Given the description of an element on the screen output the (x, y) to click on. 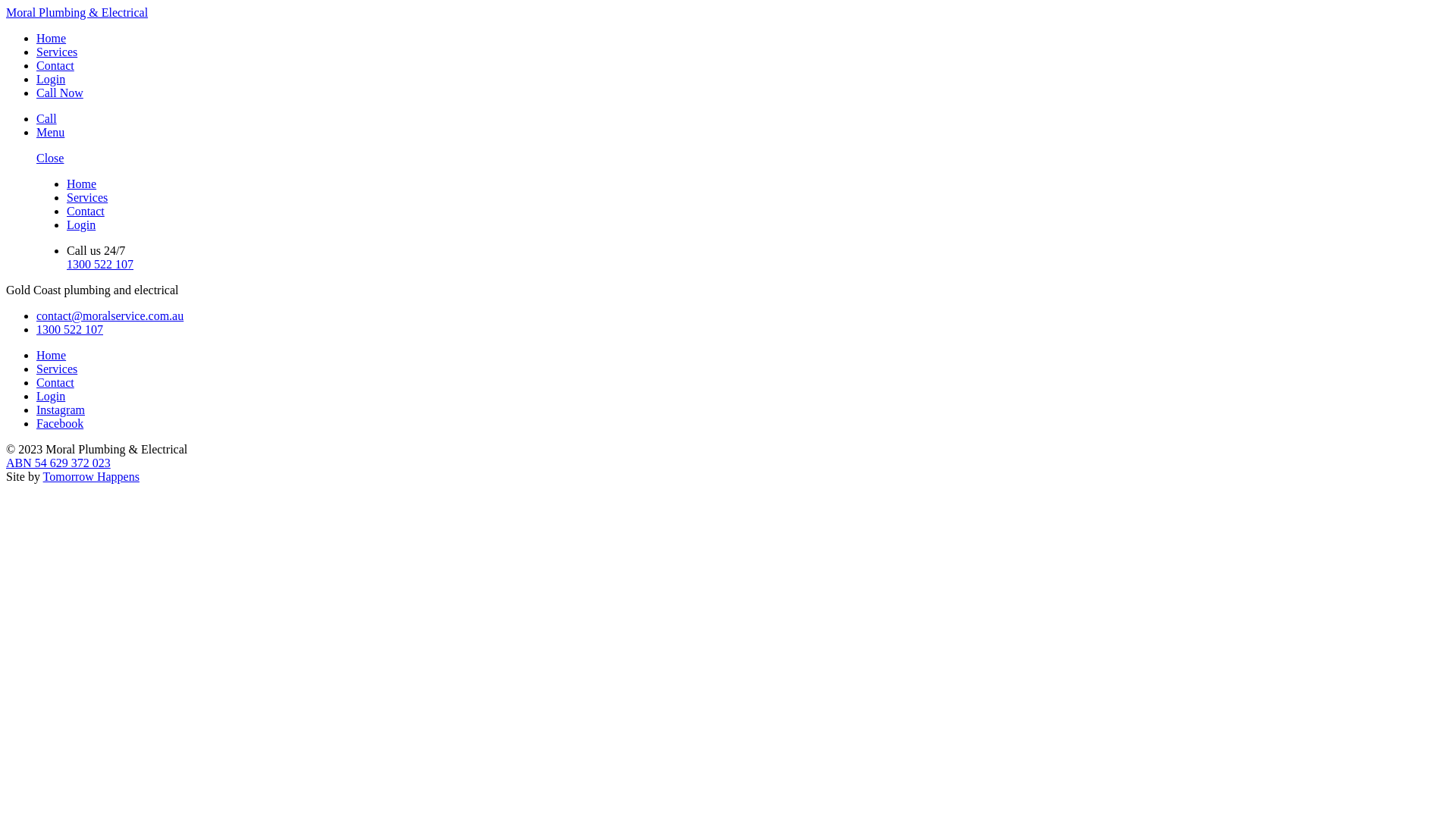
Services Element type: text (86, 197)
Instagram Element type: text (60, 409)
Menu Element type: text (50, 131)
Call Element type: text (46, 118)
Services Element type: text (56, 368)
contact@moralservice.com.au Element type: text (109, 315)
Contact Element type: text (55, 382)
ABN 54 629 372 023 Element type: text (58, 462)
Facebook Element type: text (59, 423)
Close Element type: text (49, 157)
Login Element type: text (50, 78)
Home Element type: text (81, 183)
Call Now Element type: text (59, 92)
1300 522 107 Element type: text (69, 329)
Contact Element type: text (85, 210)
Login Element type: text (80, 224)
1300 522 107 Element type: text (99, 263)
Moral Plumbing & Electrical Element type: text (76, 12)
Contact Element type: text (55, 65)
Services Element type: text (56, 51)
Home Element type: text (50, 37)
Login Element type: text (50, 395)
Tomorrow Happens Element type: text (91, 476)
Home Element type: text (50, 354)
